Given the description of an element on the screen output the (x, y) to click on. 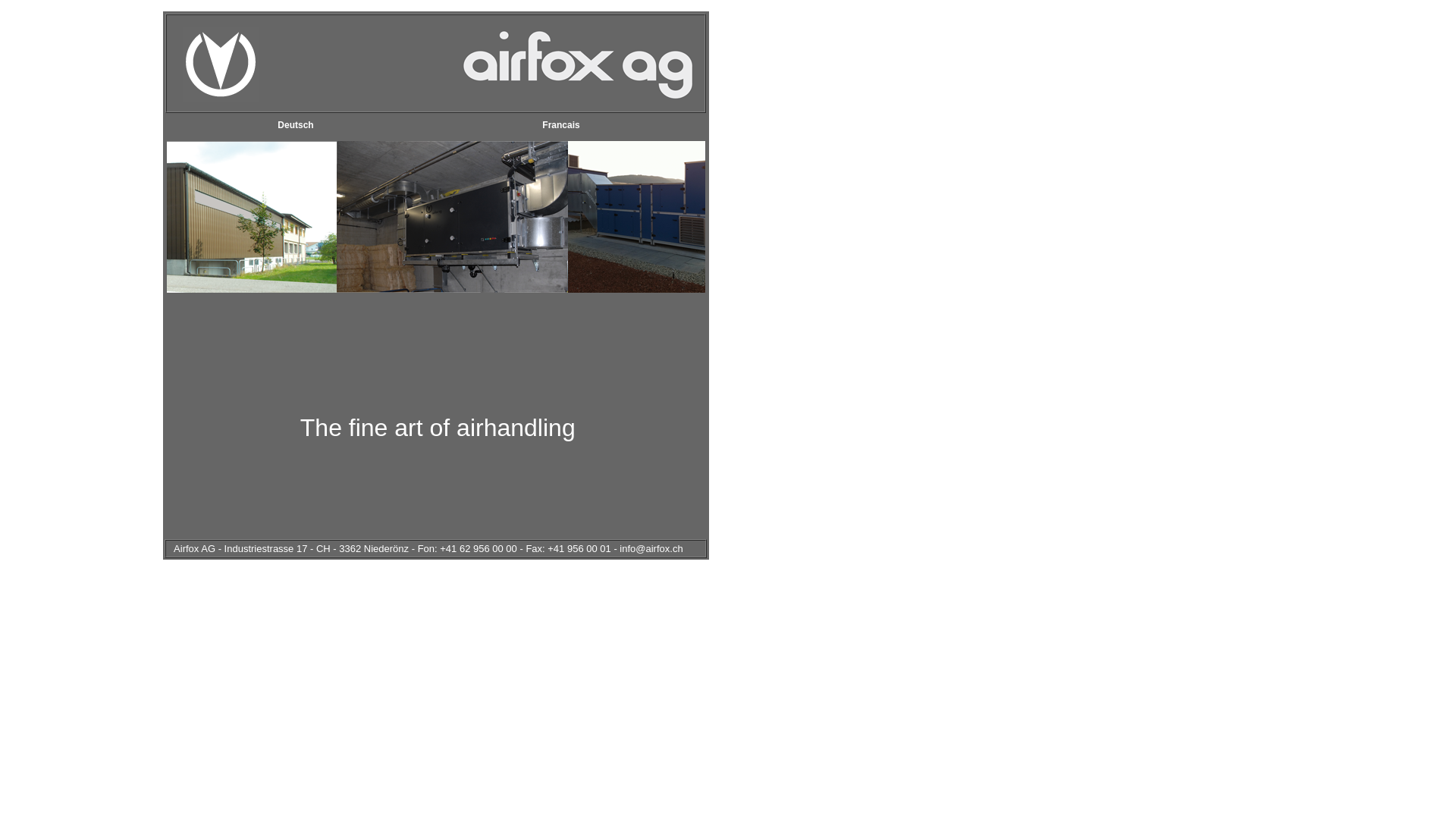
Deutsch Element type: text (295, 124)
Francais Element type: text (560, 124)
